Given the description of an element on the screen output the (x, y) to click on. 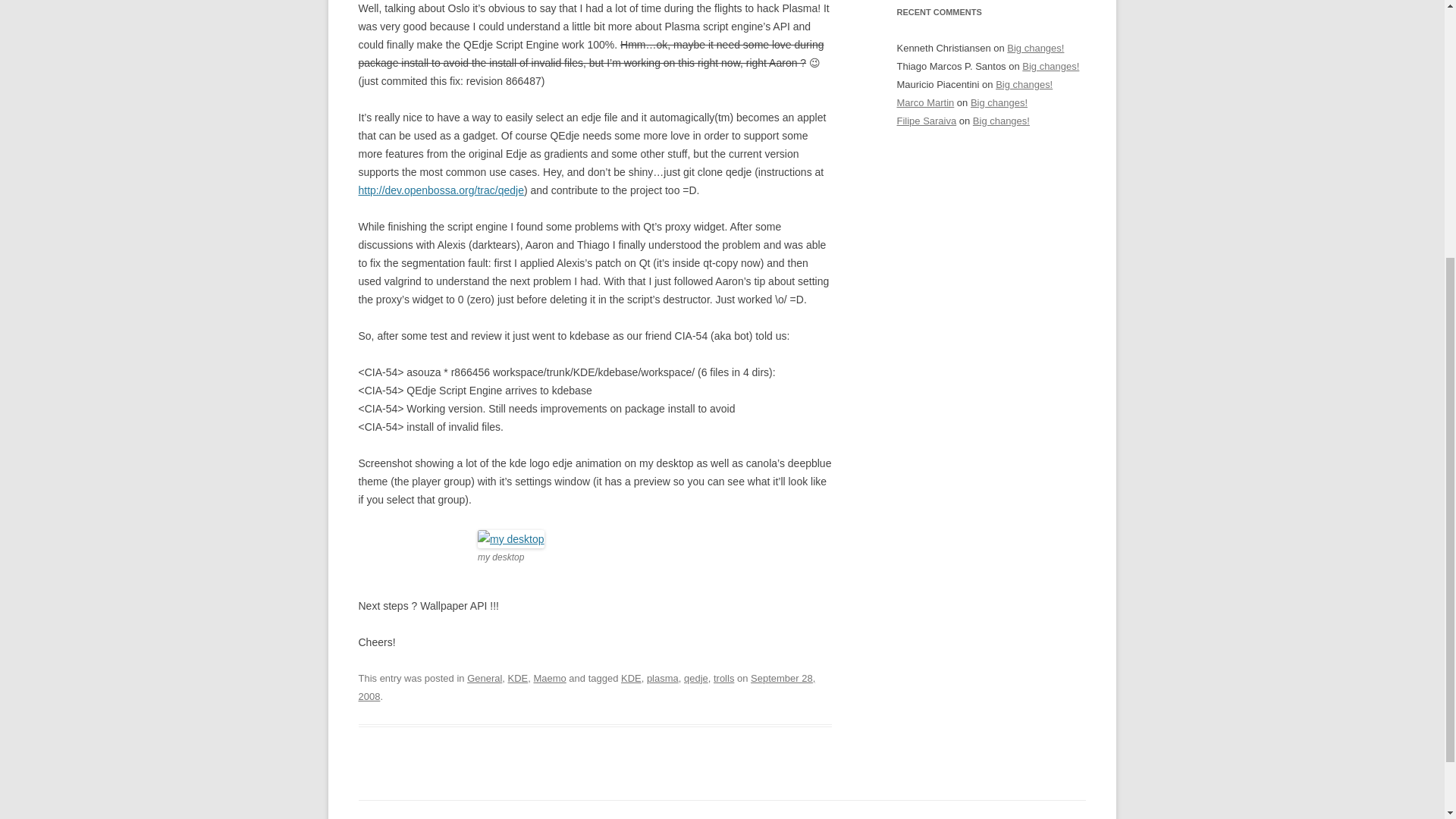
Big changes! (1000, 120)
9:47 pm (586, 686)
Maemo (549, 677)
Big changes! (999, 102)
General (484, 677)
KDE (518, 677)
qedje (695, 677)
Big changes! (1035, 48)
Marco Martin (924, 102)
September 28, 2008 (586, 686)
